Given the description of an element on the screen output the (x, y) to click on. 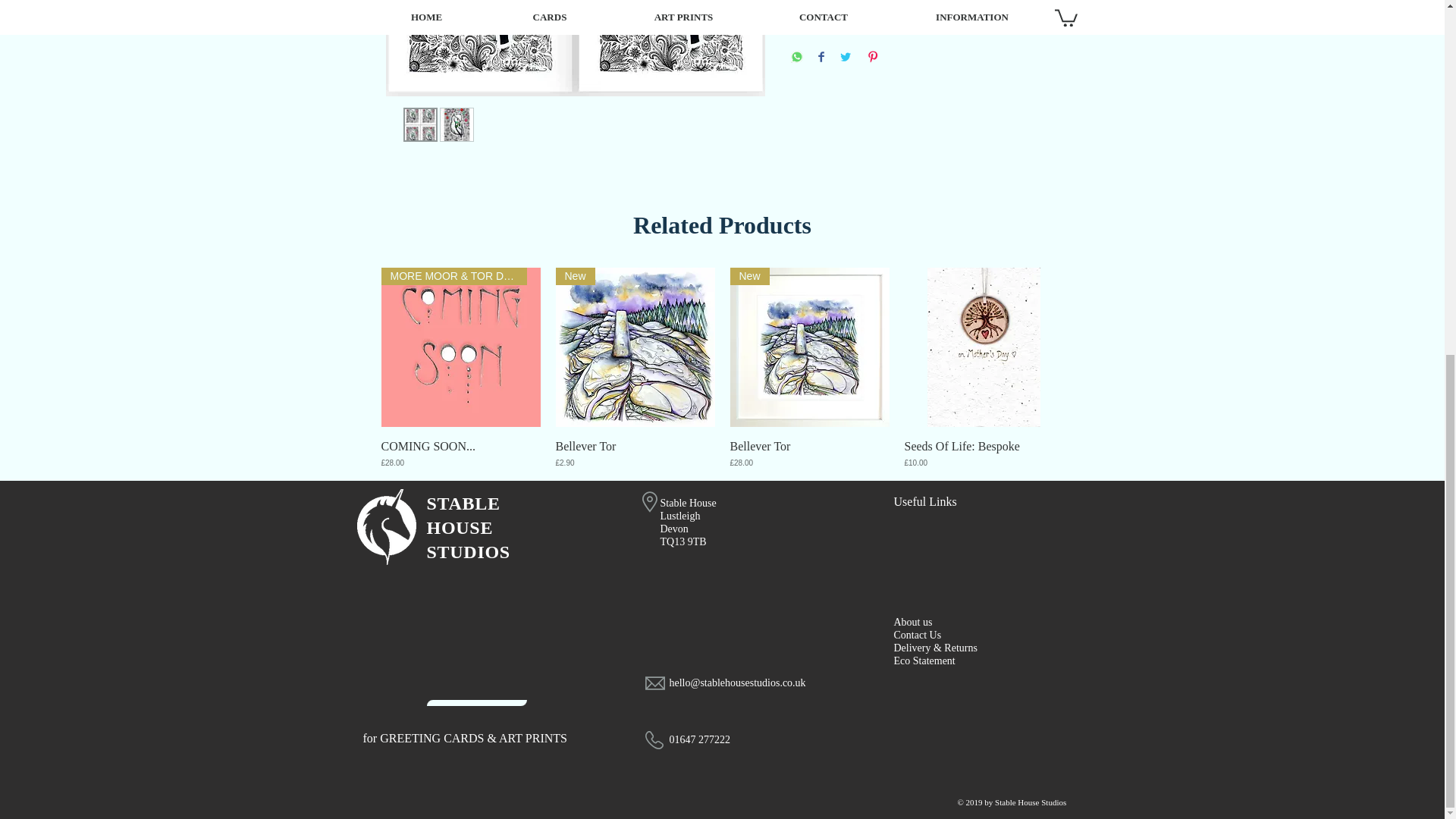
New (634, 346)
New (808, 346)
